Given the description of an element on the screen output the (x, y) to click on. 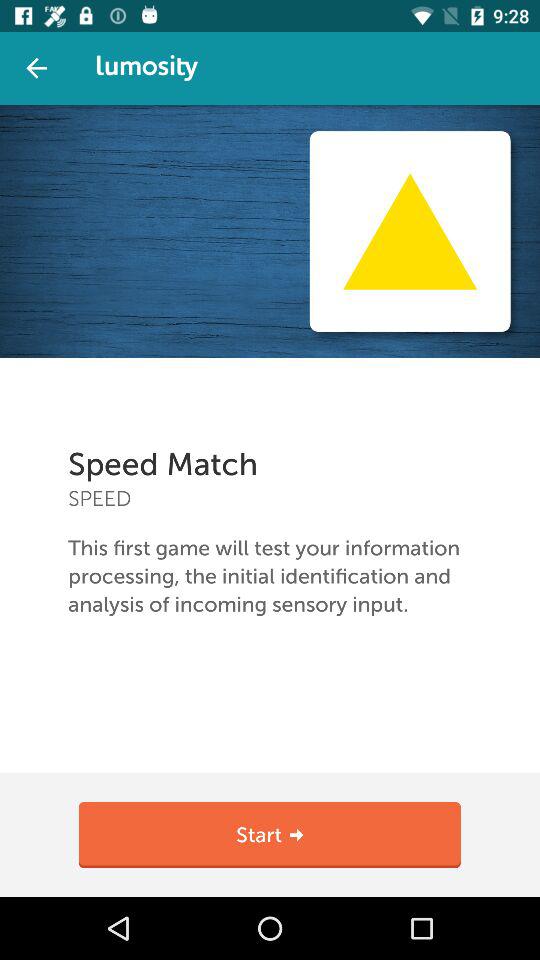
back button (36, 68)
